Given the description of an element on the screen output the (x, y) to click on. 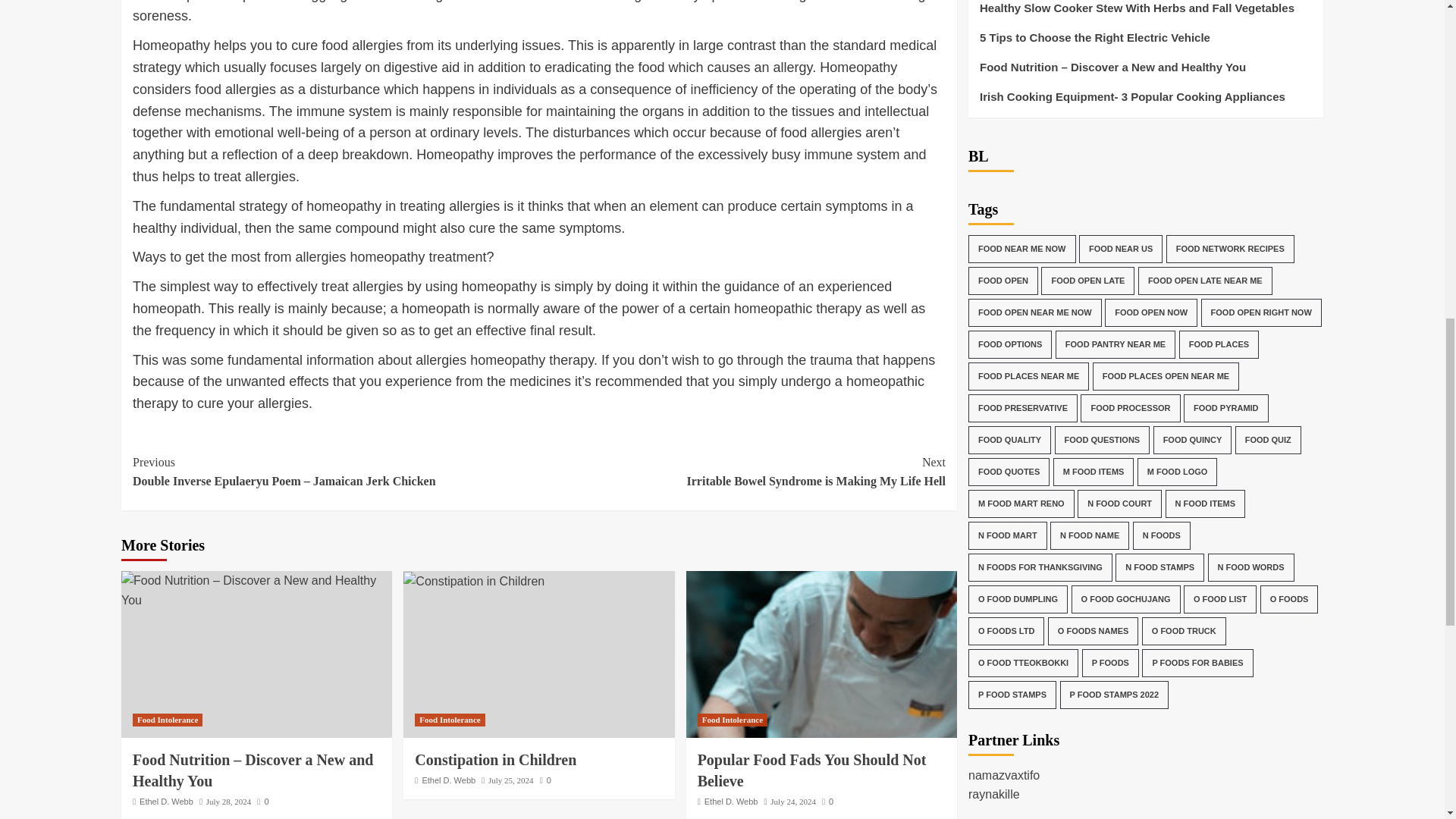
Food Intolerance (167, 719)
Constipation in Children (495, 759)
Food Intolerance (732, 719)
July 28, 2024 (228, 800)
All About Allergies: Homeopathic Allergies Treatment (820, 653)
Ethel D. Webb (166, 800)
Seedbacklink (1010, 812)
Constipation in Children (473, 581)
0 (545, 779)
Ethel D. Webb (741, 471)
0 (449, 779)
July 24, 2024 (262, 800)
Popular Food Fads You Should Not Believe (792, 800)
July 25, 2024 (811, 770)
